Given the description of an element on the screen output the (x, y) to click on. 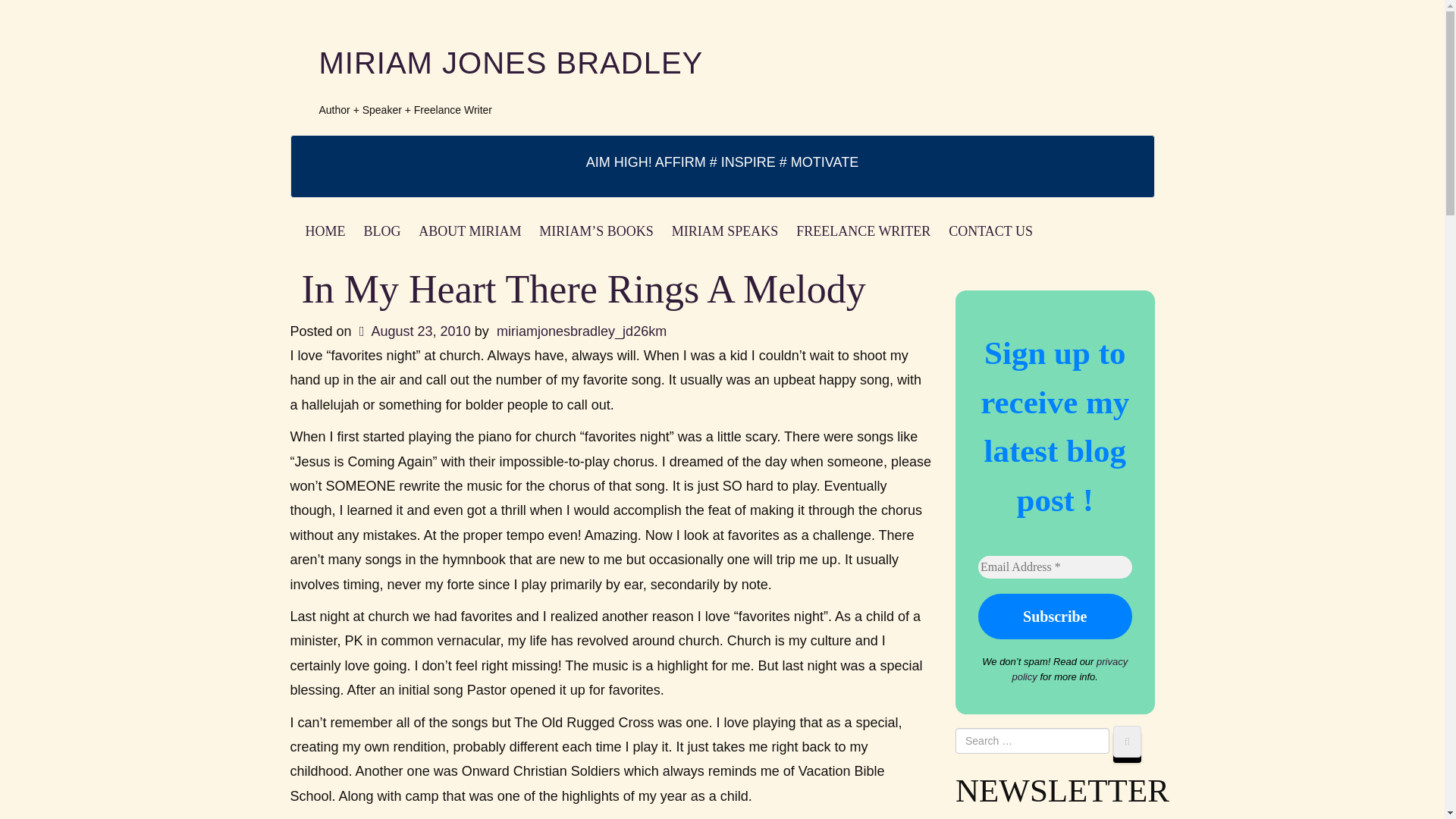
BLOG (381, 231)
In My Heart There Rings A Melody (583, 289)
CONTACT US (990, 231)
Subscribe (1055, 616)
MIRIAM SPEAKS (725, 231)
MIRIAM JONES BRADLEY (510, 62)
HOME (325, 231)
August 23, 2010 (412, 331)
privacy policy (1069, 669)
Subscribe (1055, 616)
Email Address (1055, 567)
FREELANCE WRITER (863, 231)
ABOUT MIRIAM (469, 231)
